Given the description of an element on the screen output the (x, y) to click on. 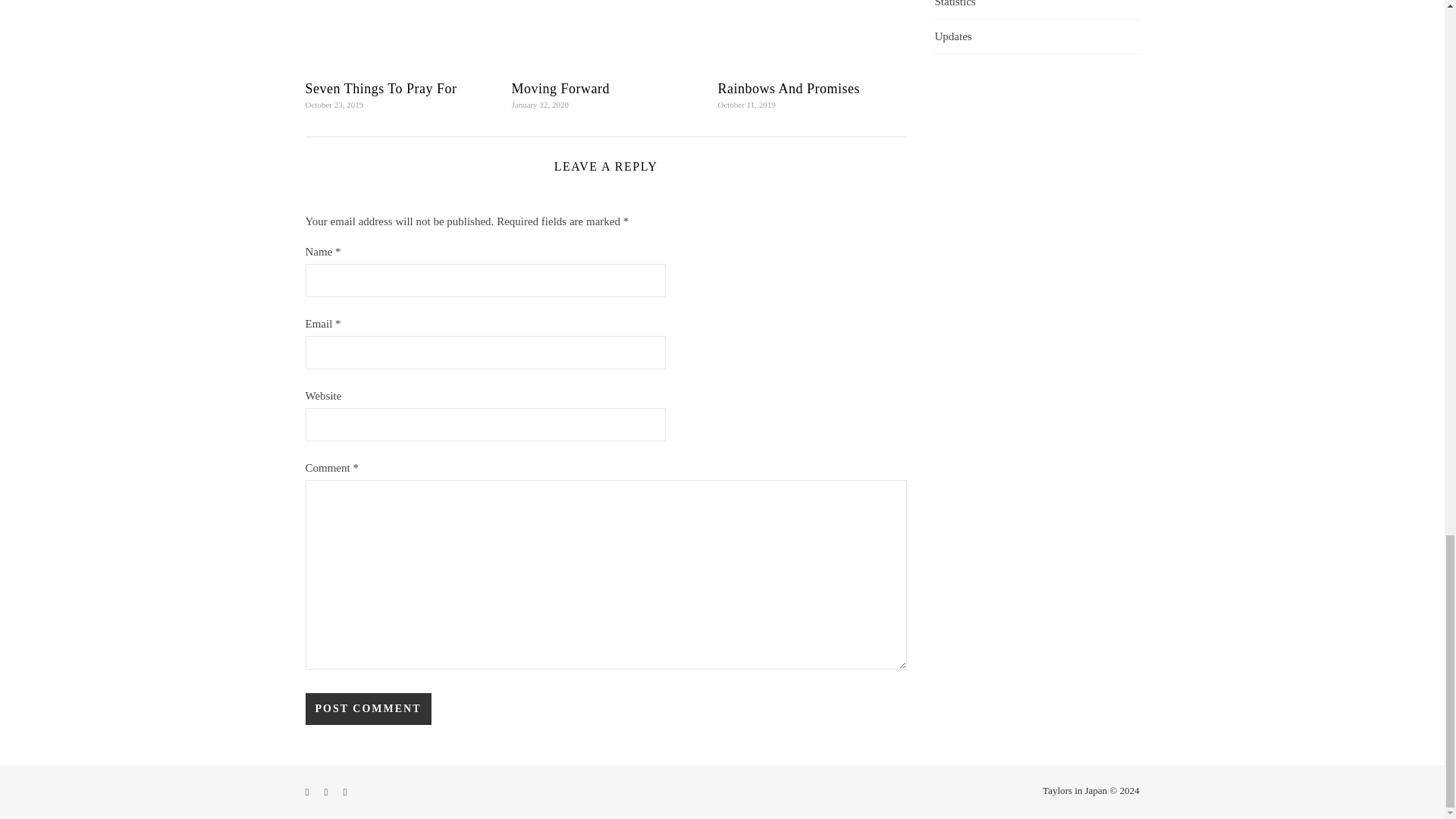
Post Comment (367, 708)
Post Comment (367, 708)
Seven Things To Pray For (380, 88)
Rainbows And Promises (788, 88)
Moving Forward (560, 88)
